Given the description of an element on the screen output the (x, y) to click on. 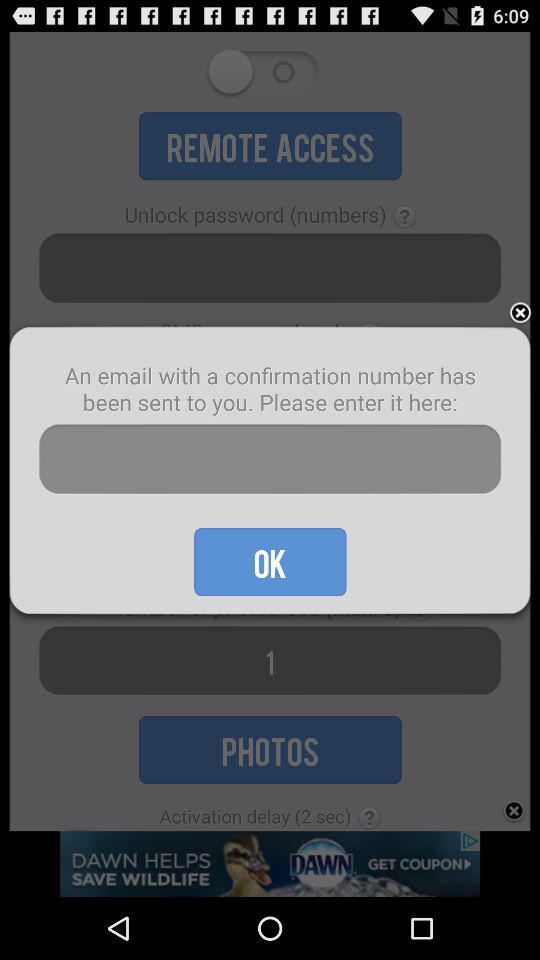
enter confirmation code (270, 459)
